Given the description of an element on the screen output the (x, y) to click on. 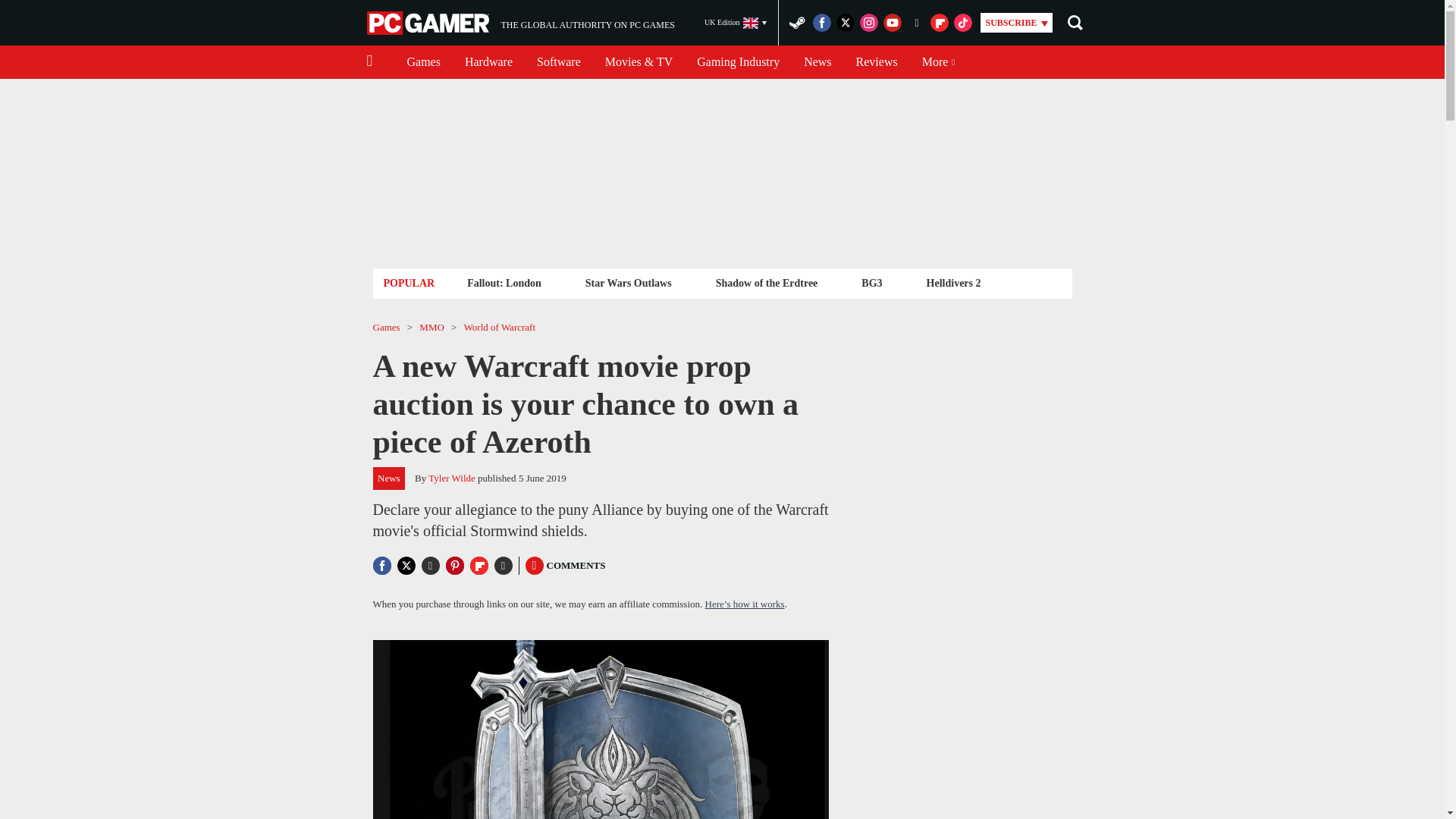
Fallout: London (504, 282)
Games (520, 22)
Gaming Industry (422, 61)
Reviews (738, 61)
Star Wars Outlaws (877, 61)
News (628, 282)
Hardware (817, 61)
UK Edition (488, 61)
Software (735, 22)
